Given the description of an element on the screen output the (x, y) to click on. 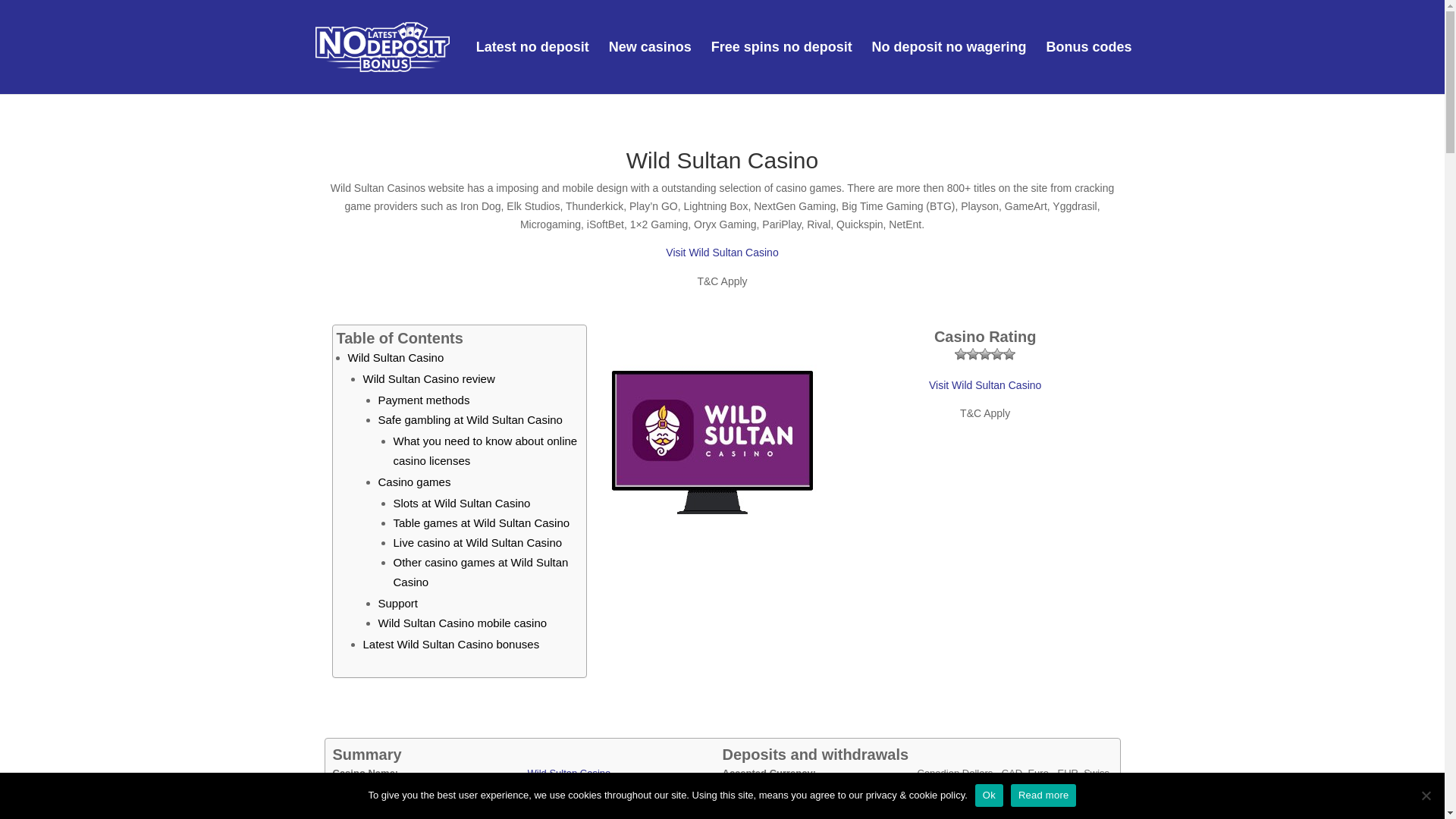
Latest Wild Sultan Casino bonuses (450, 644)
Wild Sultan Casino (569, 772)
Safe gambling at Wild Sultan Casino (469, 419)
Casino games (413, 481)
Wild Sultan Casino (395, 357)
Other casino games at Wild Sultan Casino (480, 572)
Wild Sultan Casino mobile casino (462, 622)
Free spins no deposit (781, 67)
New casinos (649, 67)
Visit Wild Sultan Casino (721, 252)
Wild Sultan Casino mobile casino (462, 622)
3 Stars (984, 354)
Read more (1043, 794)
Other casino games at Wild Sultan Casino (480, 572)
4 Stars (997, 354)
